Given the description of an element on the screen output the (x, y) to click on. 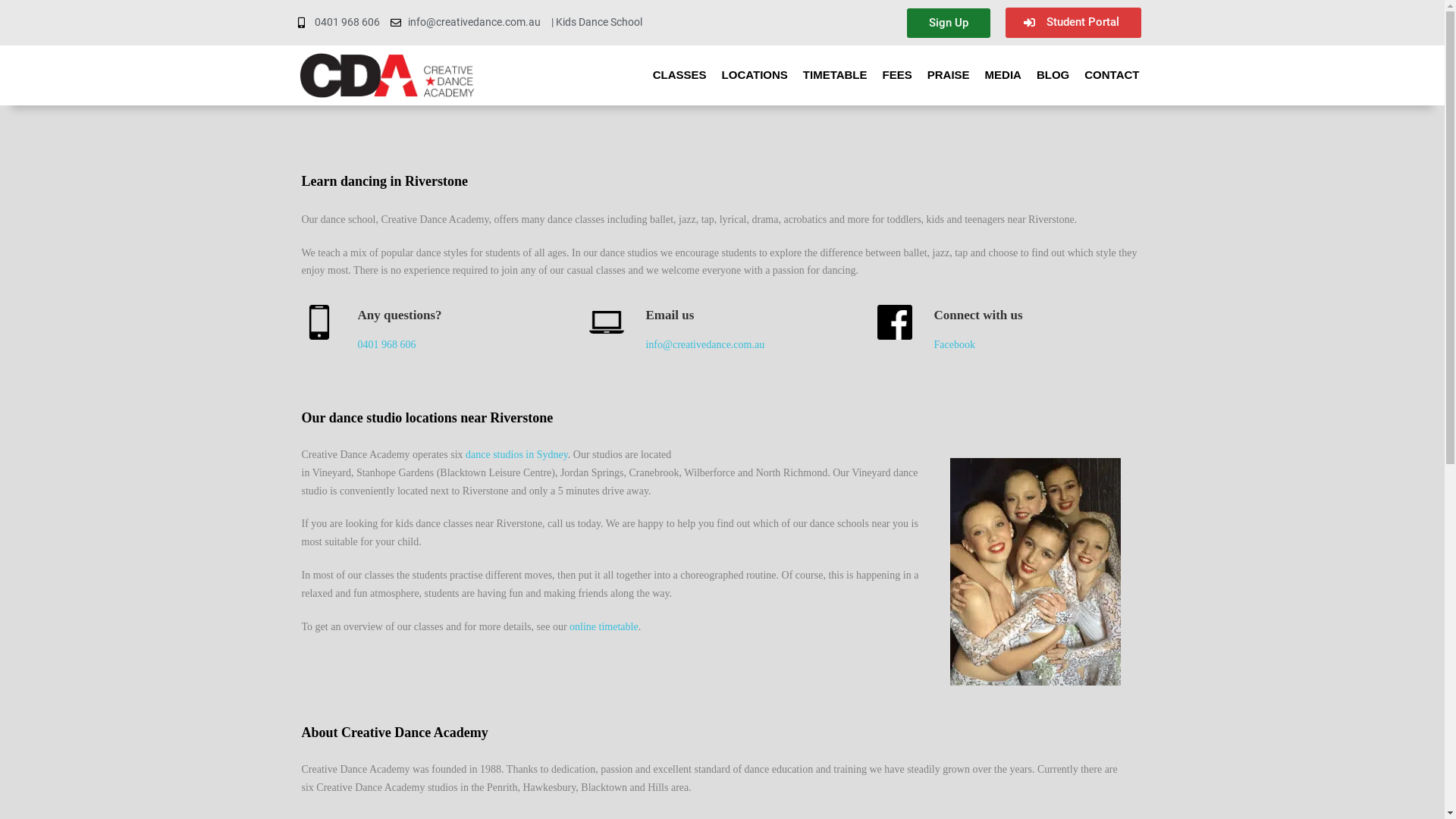
info@creativedance.com.au Element type: text (465, 22)
PRAISE Element type: text (948, 74)
Sign Up Element type: text (947, 22)
CONTACT Element type: text (1111, 74)
LOCATIONS Element type: text (754, 74)
TIMETABLE Element type: text (835, 74)
BLOG Element type: text (1052, 74)
Student Portal Element type: text (1073, 22)
dance studios in Sydney Element type: text (516, 454)
Facebook Element type: text (953, 344)
CLASSES Element type: text (679, 74)
info@creativedance.com.au Element type: text (704, 344)
online timetable Element type: text (603, 626)
0401 968 606 Element type: text (386, 344)
0401 968 606 Element type: text (338, 22)
MEDIA Element type: text (1003, 74)
FEES Element type: text (897, 74)
Dance classes Riverstone Element type: hover (1045, 574)
